Given the description of an element on the screen output the (x, y) to click on. 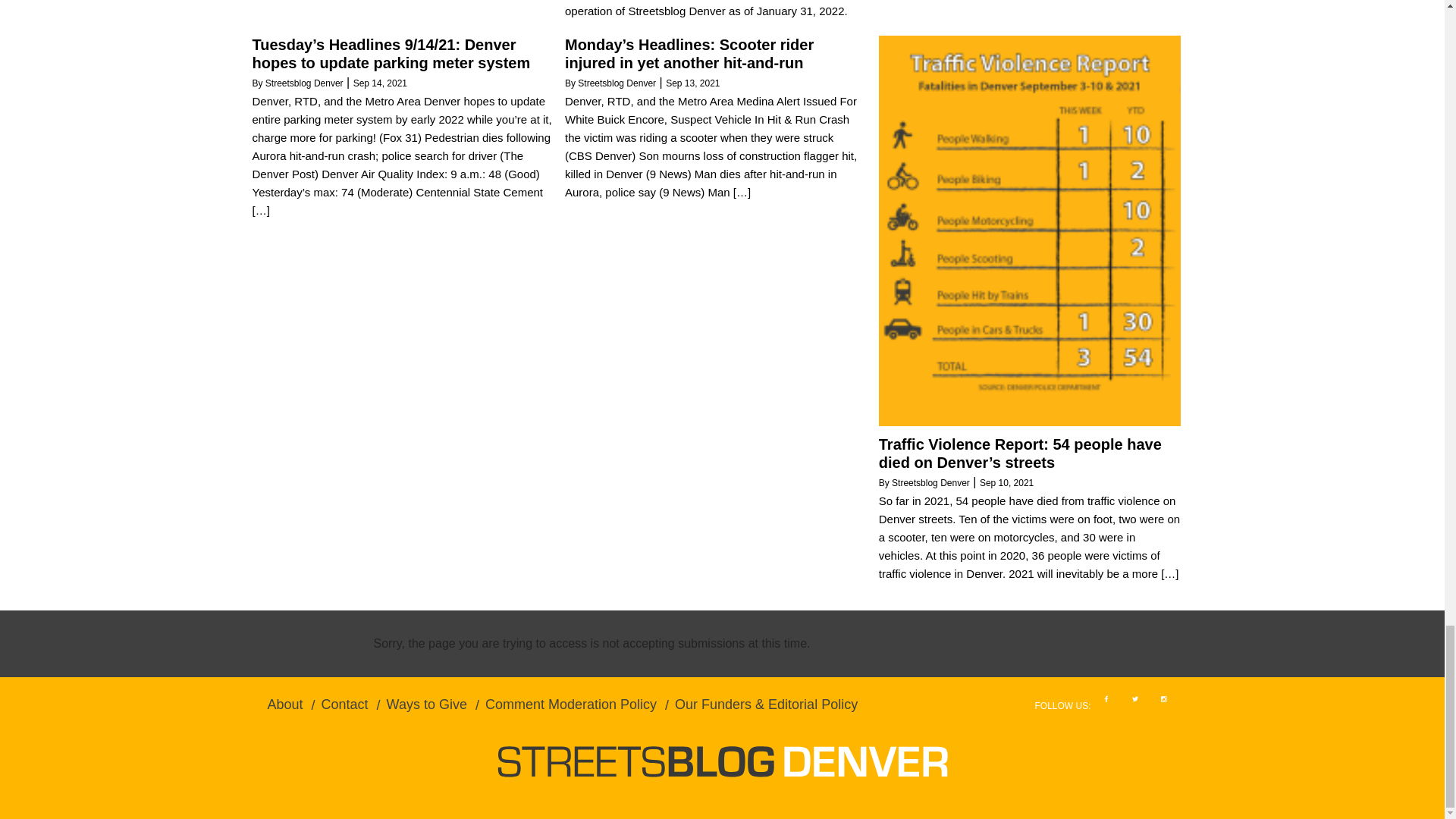
Streetsblog Denver Logo (722, 761)
